Given the description of an element on the screen output the (x, y) to click on. 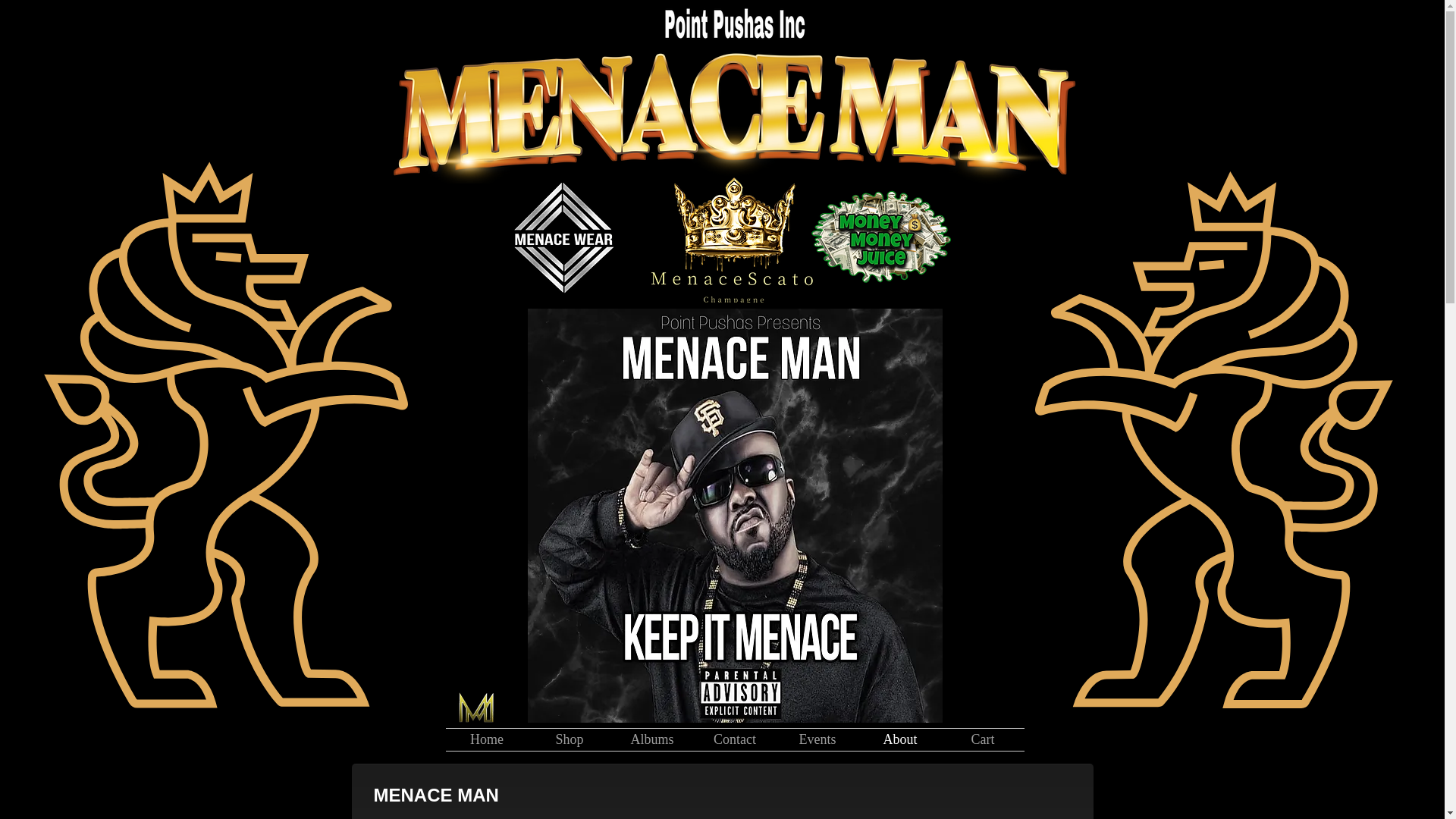
Events (817, 739)
Shop (568, 739)
Cart (983, 739)
Contact (734, 739)
About (899, 739)
Home (486, 739)
Albums (652, 739)
